Given the description of an element on the screen output the (x, y) to click on. 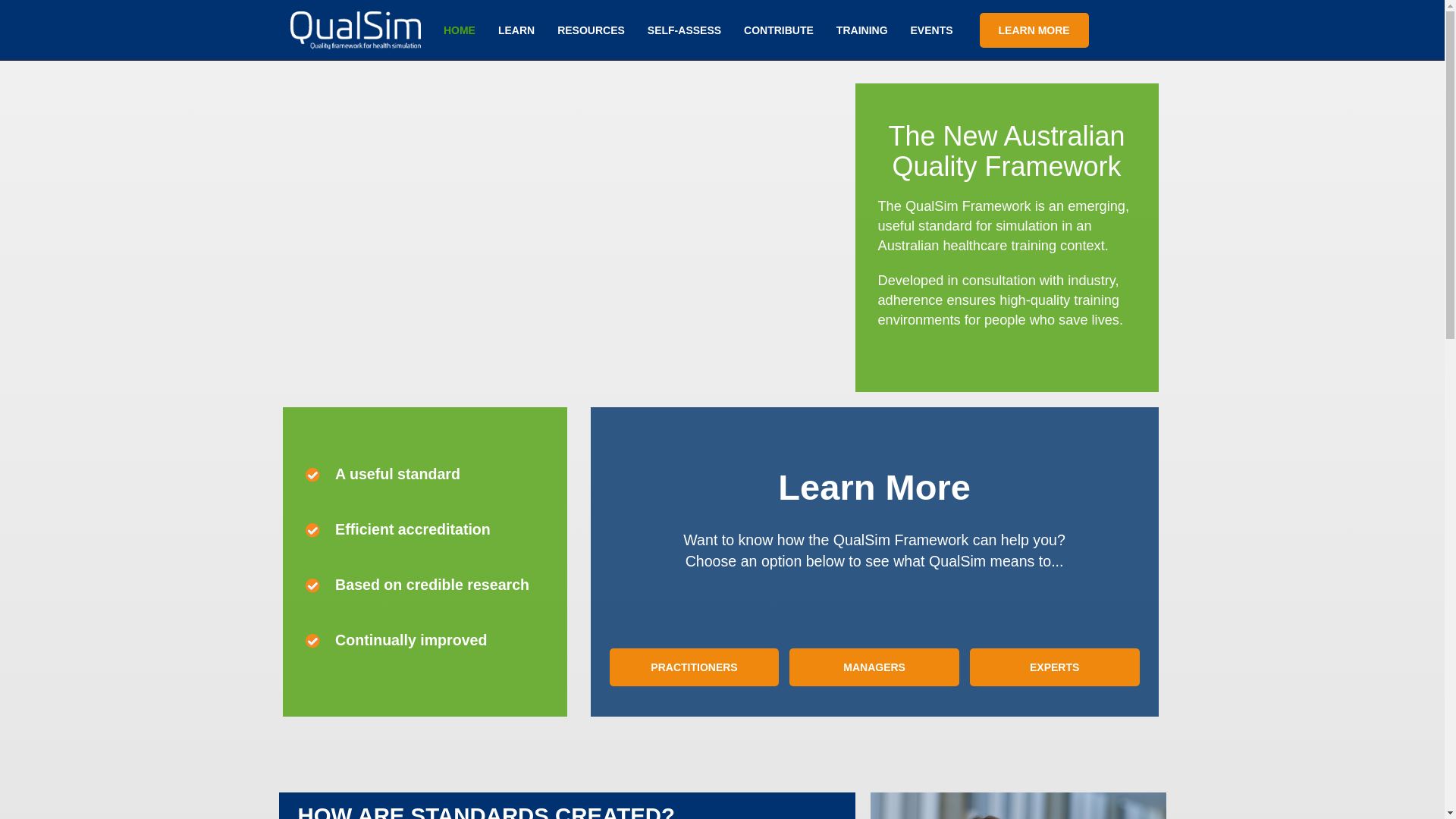
EVENTS Element type: text (931, 30)
TRAINING Element type: text (862, 30)
SELF-ASSESS Element type: text (684, 30)
MANAGERS Element type: text (874, 667)
HOME Element type: text (459, 30)
LEARN MORE Element type: text (1033, 29)
RESOURCES Element type: text (591, 30)
PRACTITIONERS Element type: text (693, 667)
EXPERTS Element type: text (1054, 667)
CONTRIBUTE Element type: text (778, 30)
LEARN Element type: text (516, 30)
